Given the description of an element on the screen output the (x, y) to click on. 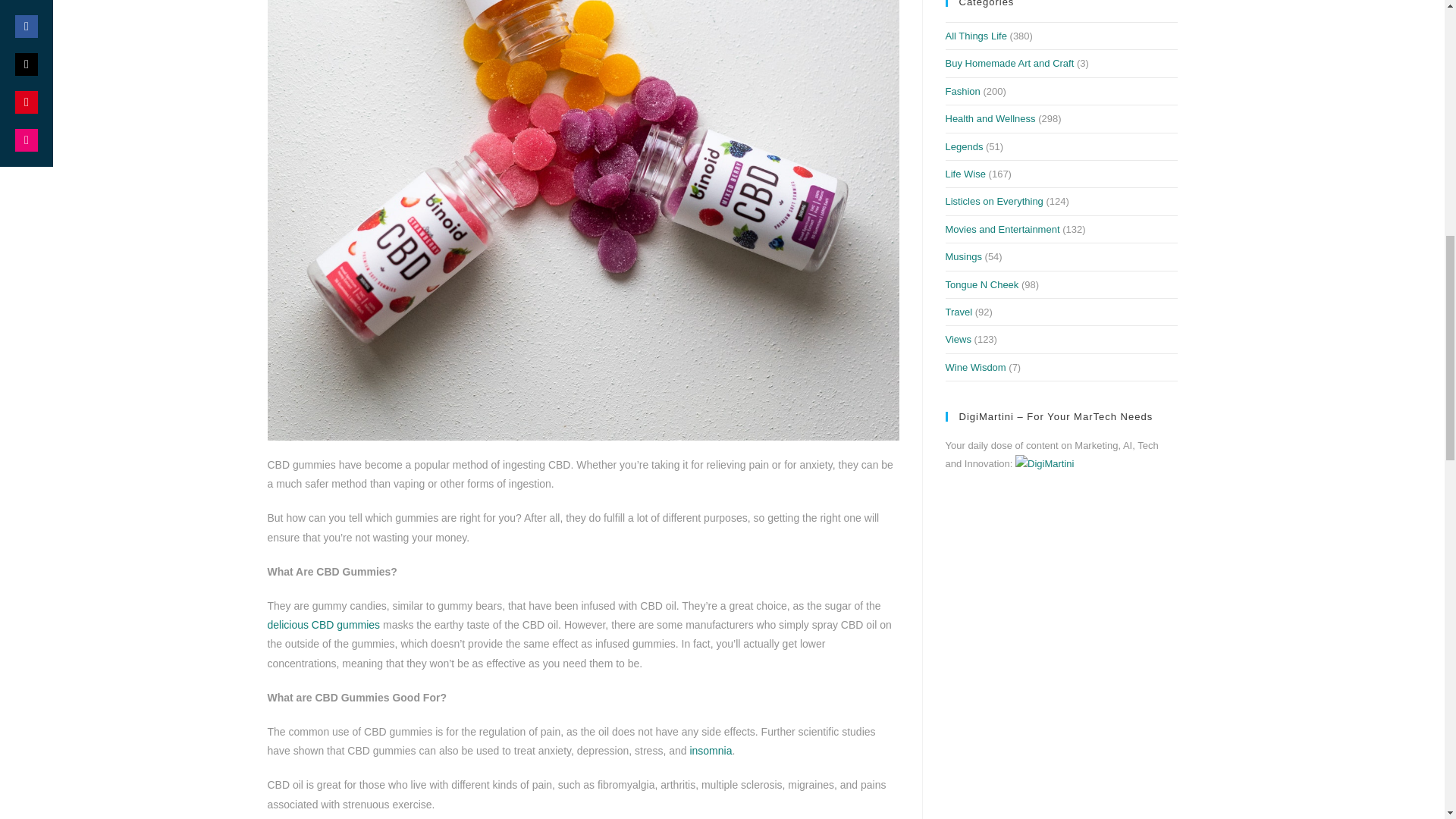
insomnia (710, 750)
delicious CBD gummies (323, 624)
